Given the description of an element on the screen output the (x, y) to click on. 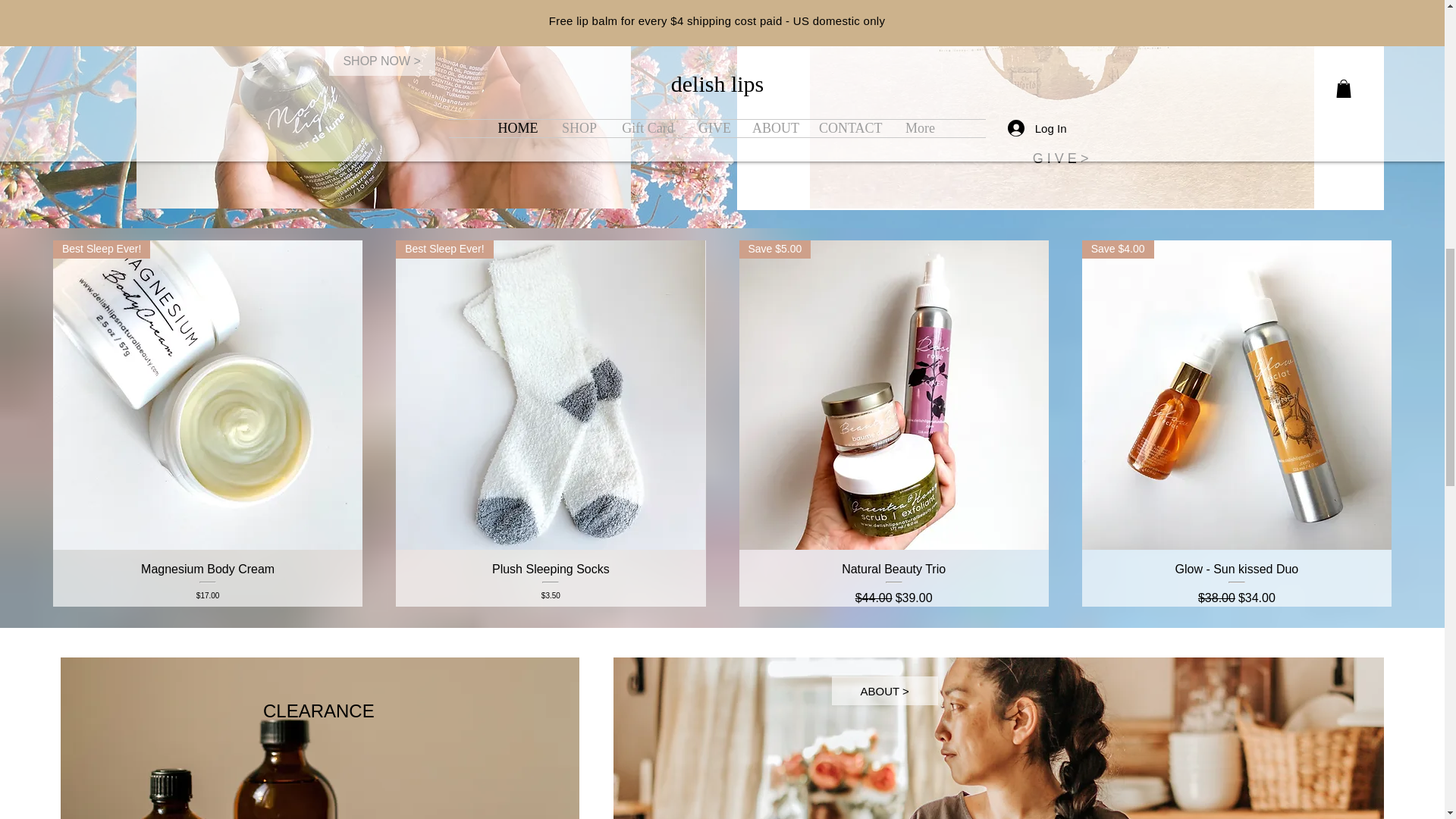
Best Sleep Ever! (550, 394)
Best Sleep Ever! (207, 394)
